Given the description of an element on the screen output the (x, y) to click on. 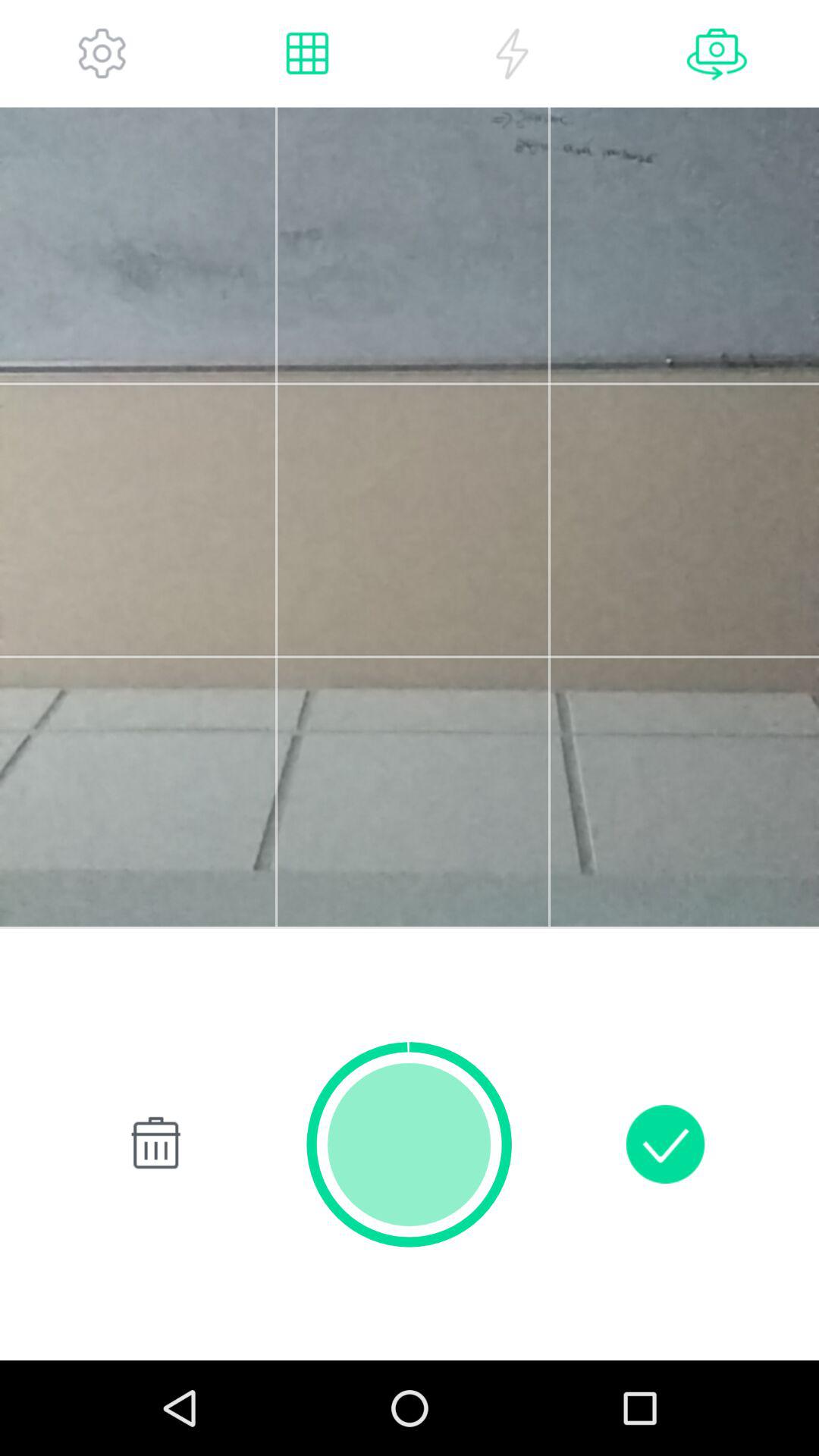
switch cameras (716, 53)
